Given the description of an element on the screen output the (x, y) to click on. 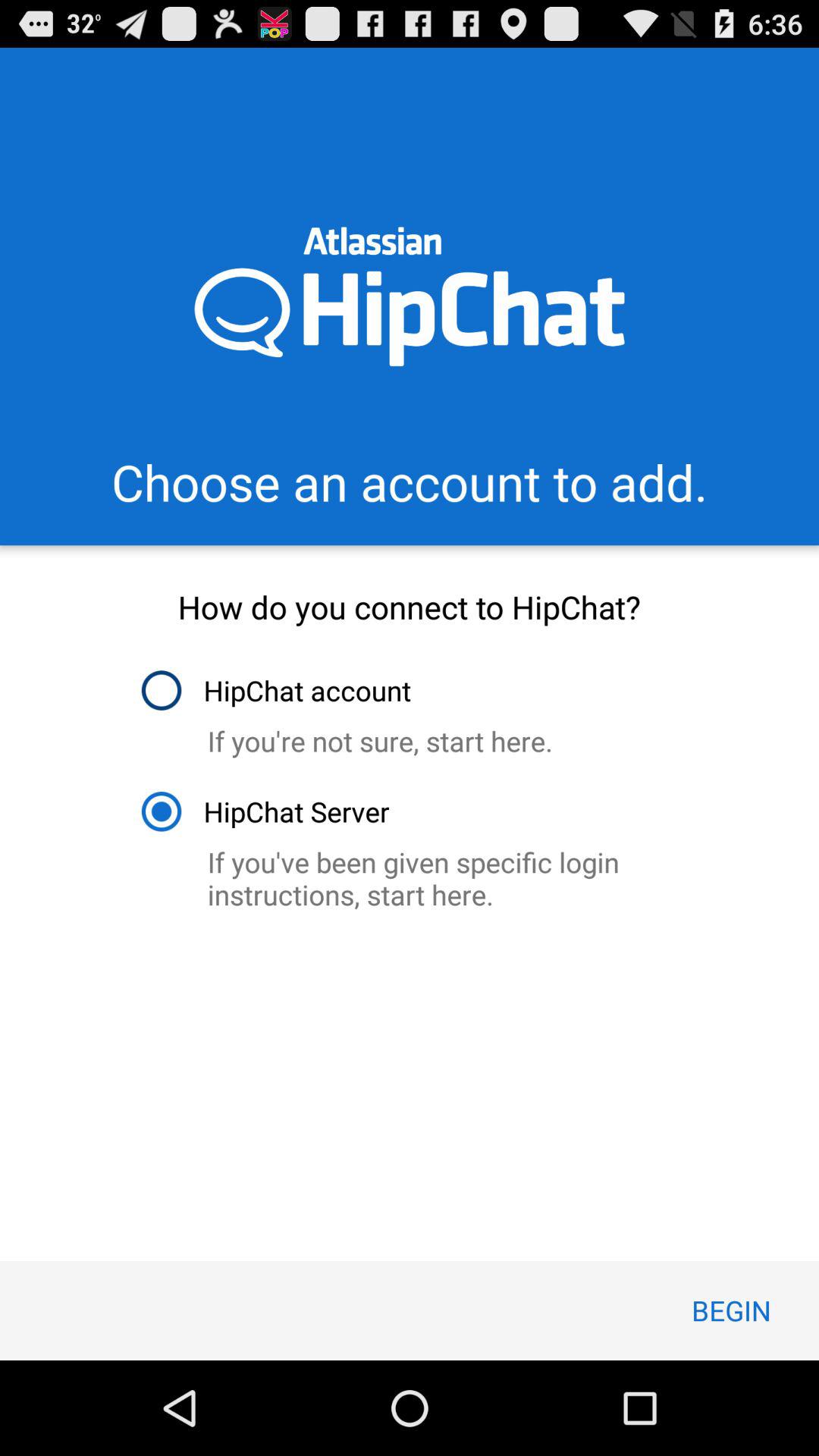
open the hipchat account item (275, 690)
